Given the description of an element on the screen output the (x, y) to click on. 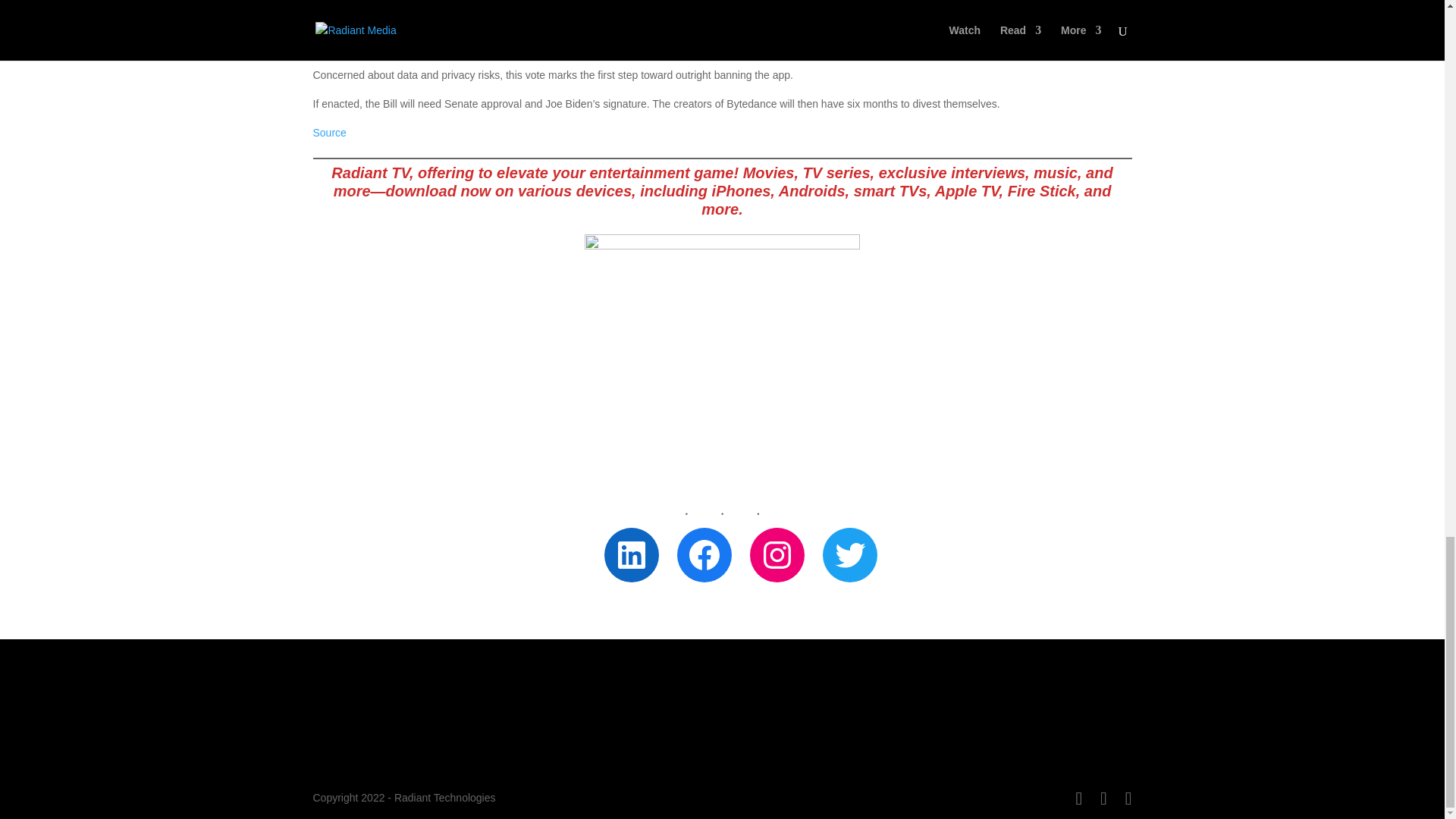
Twitter (849, 554)
Source (329, 132)
Instagram (776, 554)
LinkedIn (631, 554)
Facebook (703, 554)
